Given the description of an element on the screen output the (x, y) to click on. 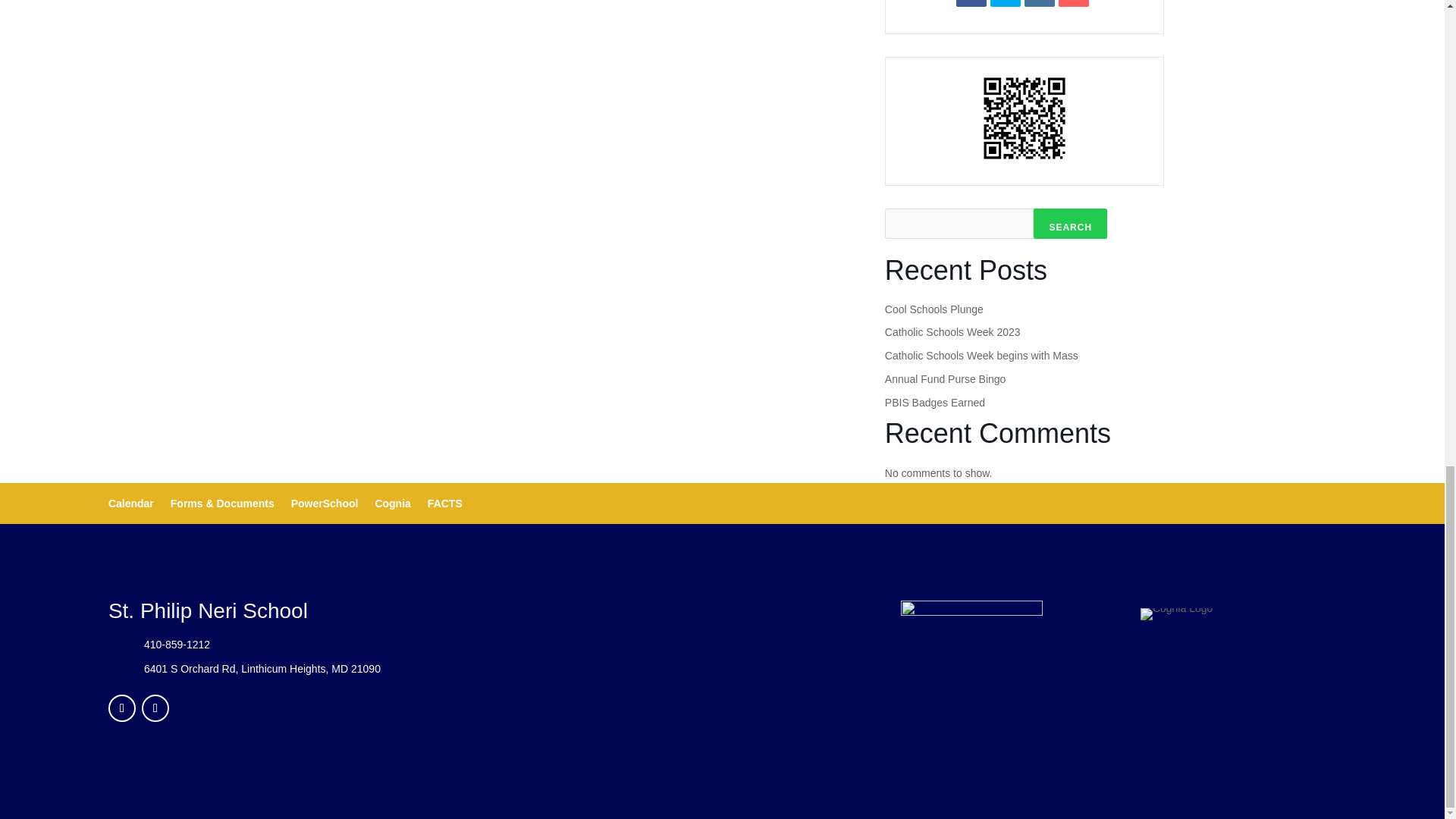
Share on Facebook (971, 3)
cognia-logo (1176, 613)
Follow on Instagram (154, 707)
Follow on Facebook (121, 707)
Email (1073, 3)
Linkedin (1039, 3)
power-school-logo (971, 614)
Tweet (1005, 3)
